Given the description of an element on the screen output the (x, y) to click on. 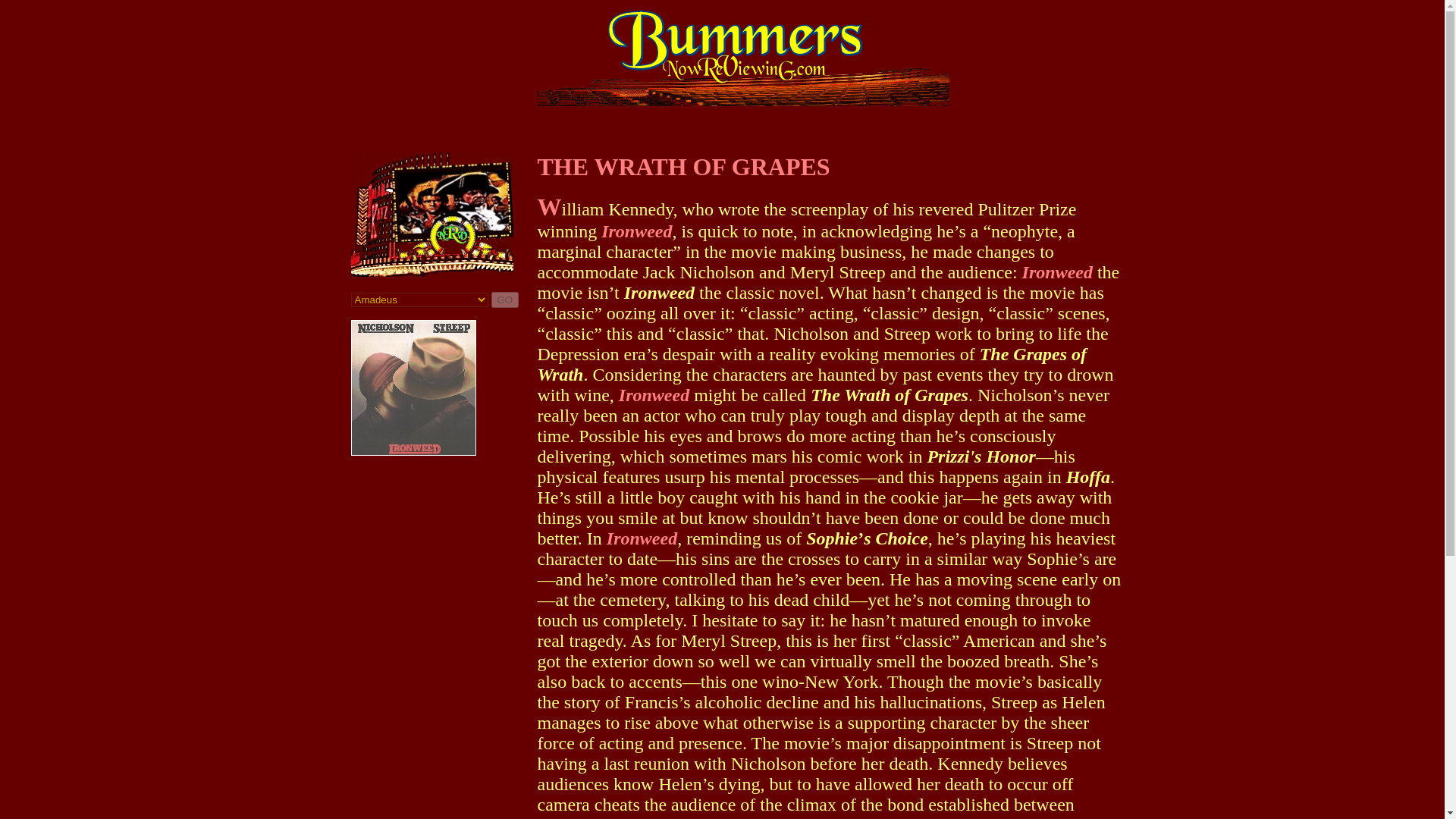
GO (505, 299)
